Given the description of an element on the screen output the (x, y) to click on. 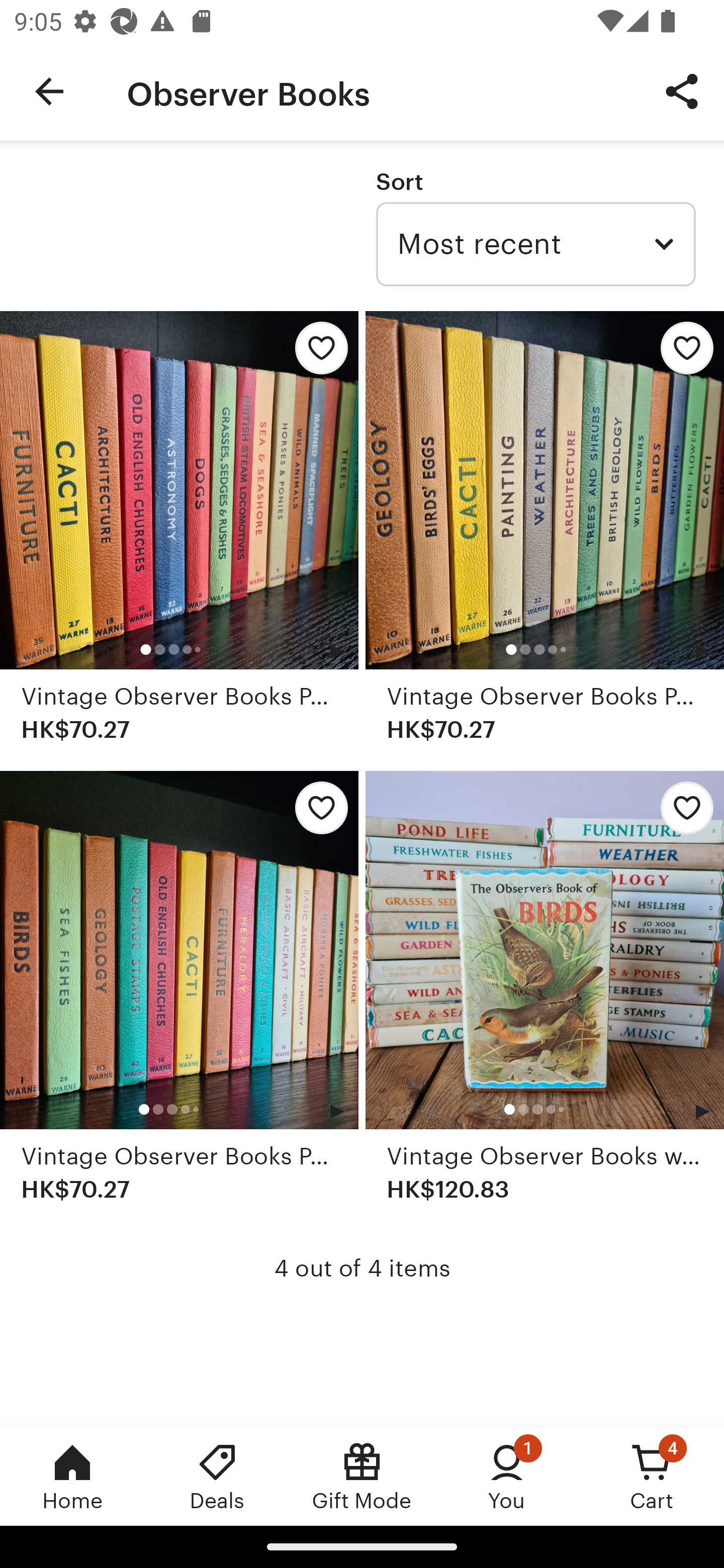
Navigate up (49, 91)
Share Button (681, 90)
Sort (399, 181)
Most recent (535, 244)
Deals (216, 1475)
Gift Mode (361, 1475)
You, 1 new notification You (506, 1475)
Cart, 4 new notifications Cart (651, 1475)
